Given the description of an element on the screen output the (x, y) to click on. 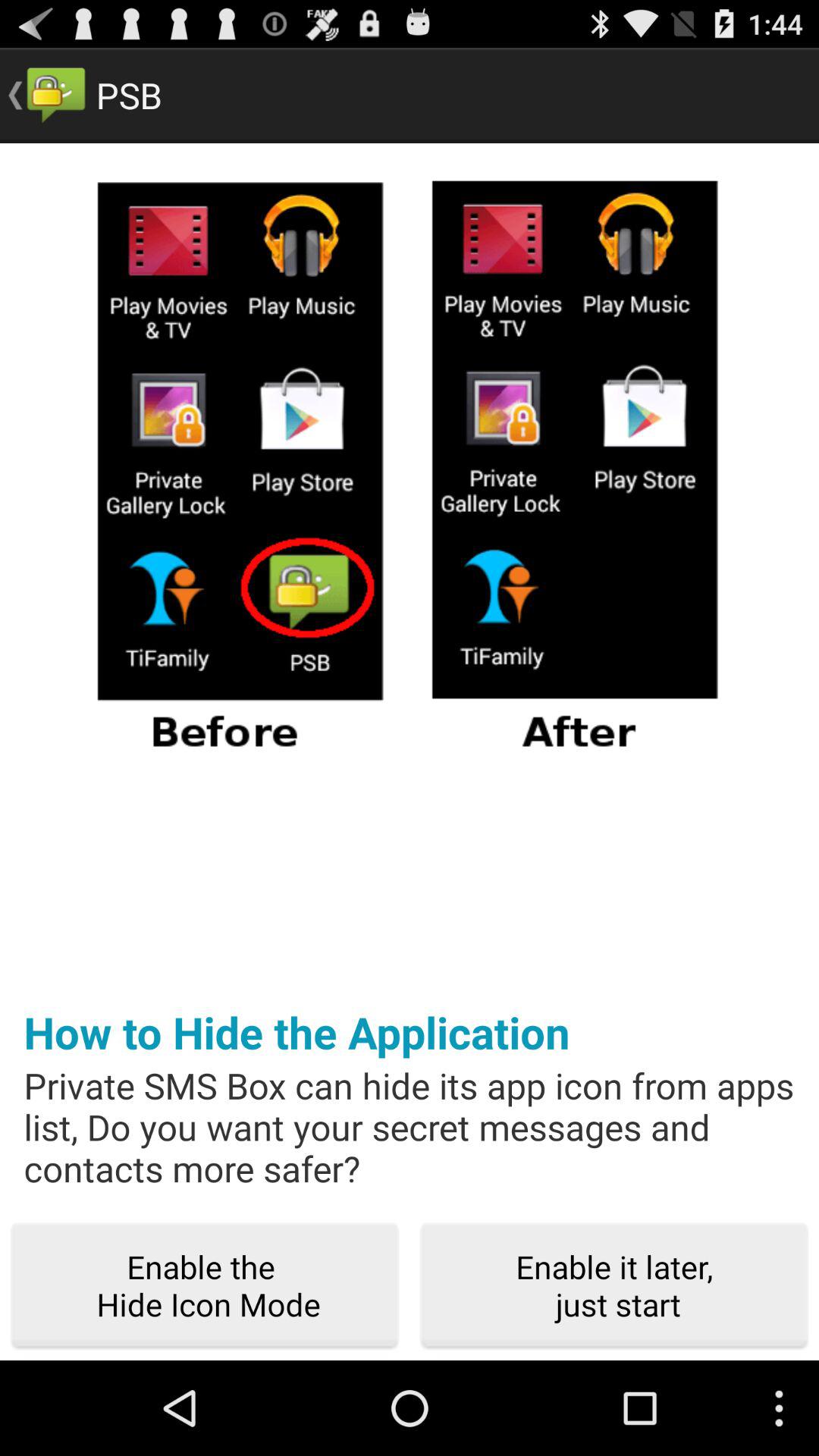
flip to enable it later item (613, 1286)
